Given the description of an element on the screen output the (x, y) to click on. 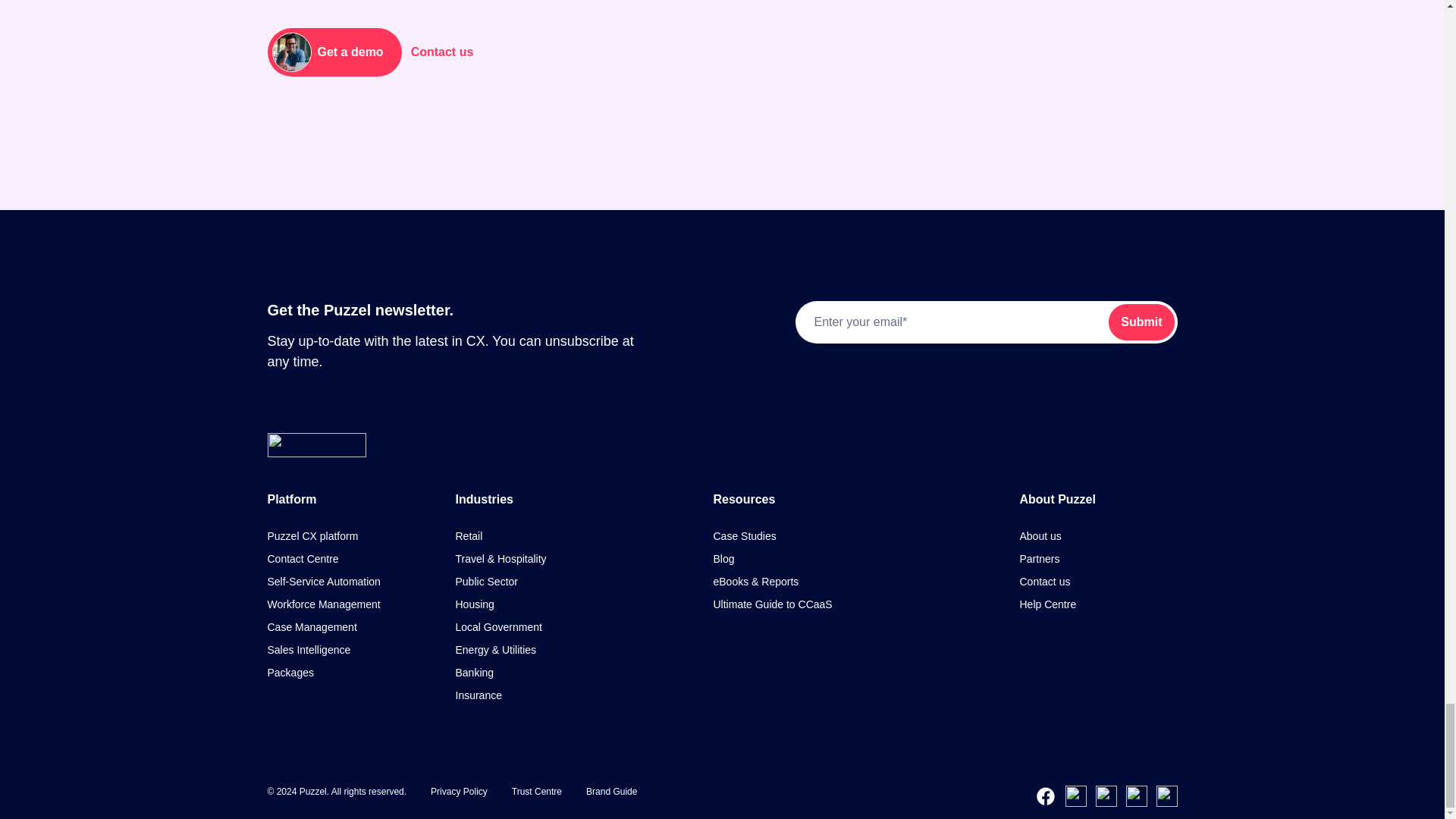
Submit (1140, 321)
